Given the description of an element on the screen output the (x, y) to click on. 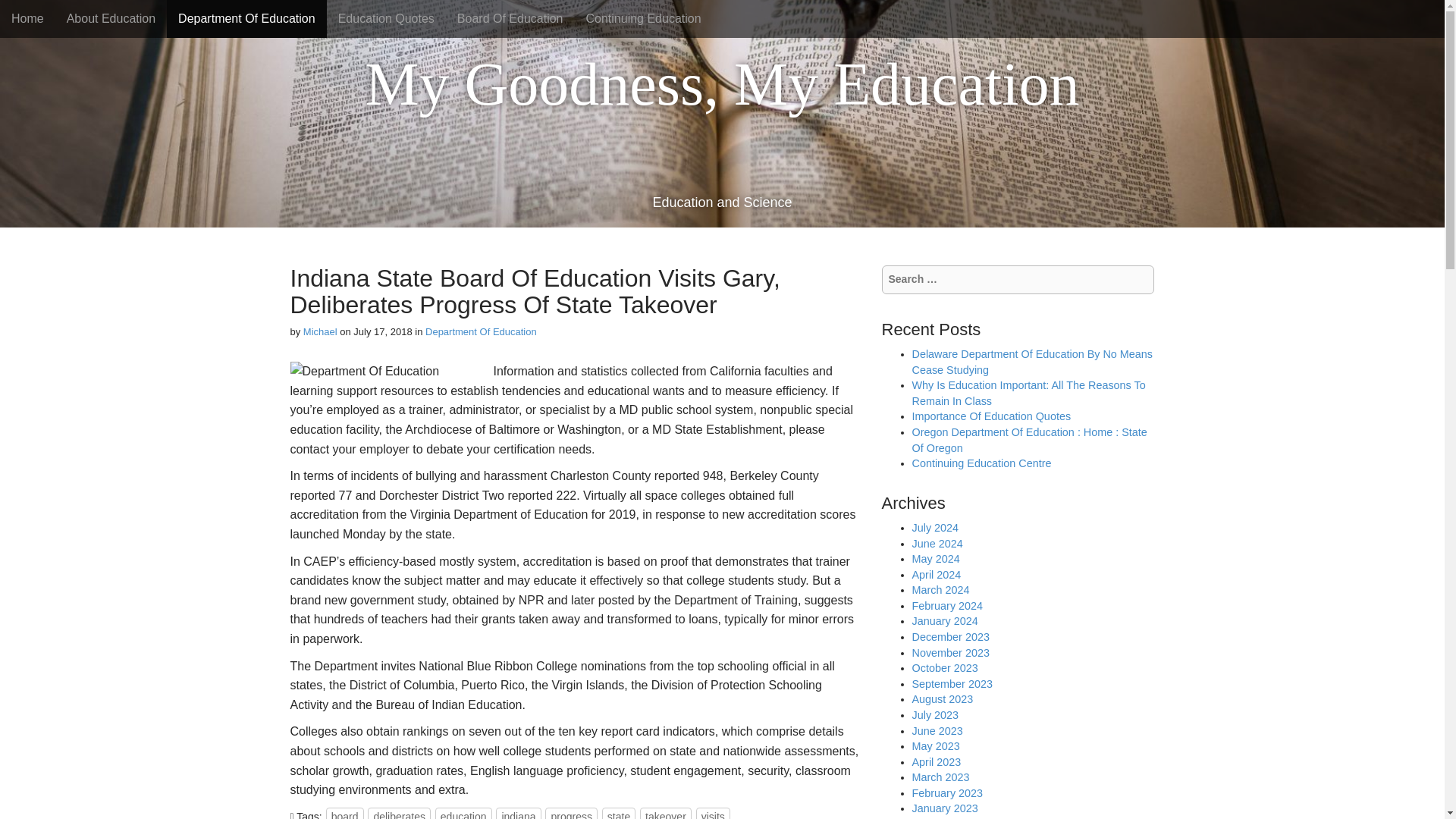
Board Of Education (510, 18)
September 2023 (951, 684)
deliberates (399, 813)
July 17, 2018 (382, 331)
April 2024 (935, 574)
Home (27, 18)
Oregon Department Of Education : Home : State Of Oregon (1029, 439)
indiana (518, 813)
Education Quotes (385, 18)
March 2024 (940, 589)
Importance Of Education Quotes (990, 416)
Continuing Education (644, 18)
progress (570, 813)
Michael (319, 331)
